Given the description of an element on the screen output the (x, y) to click on. 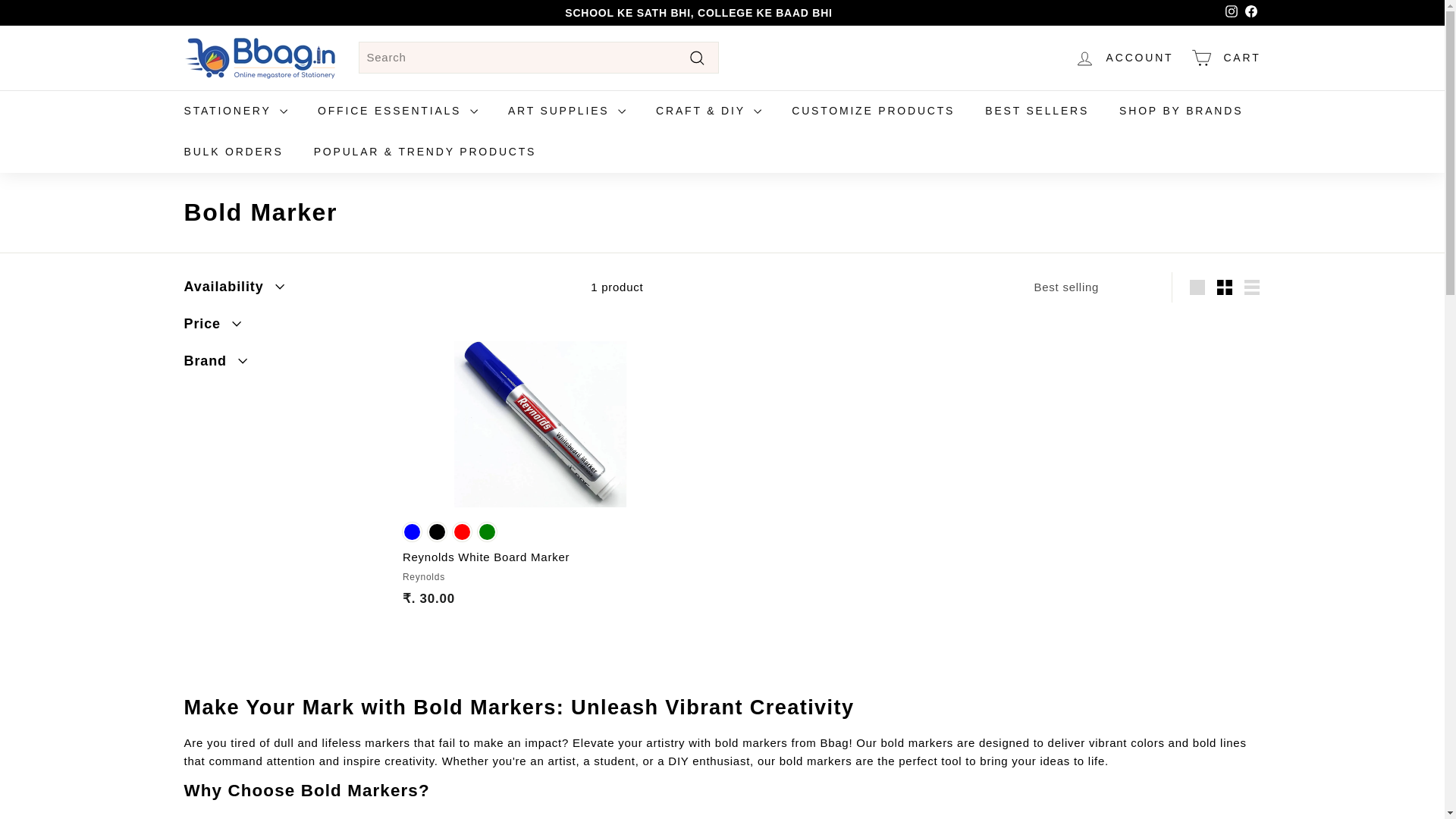
Large (1197, 286)
instagram (1231, 10)
ACCOUNT (1123, 58)
List (1252, 286)
CART (1225, 58)
Small (1225, 286)
